Given the description of an element on the screen output the (x, y) to click on. 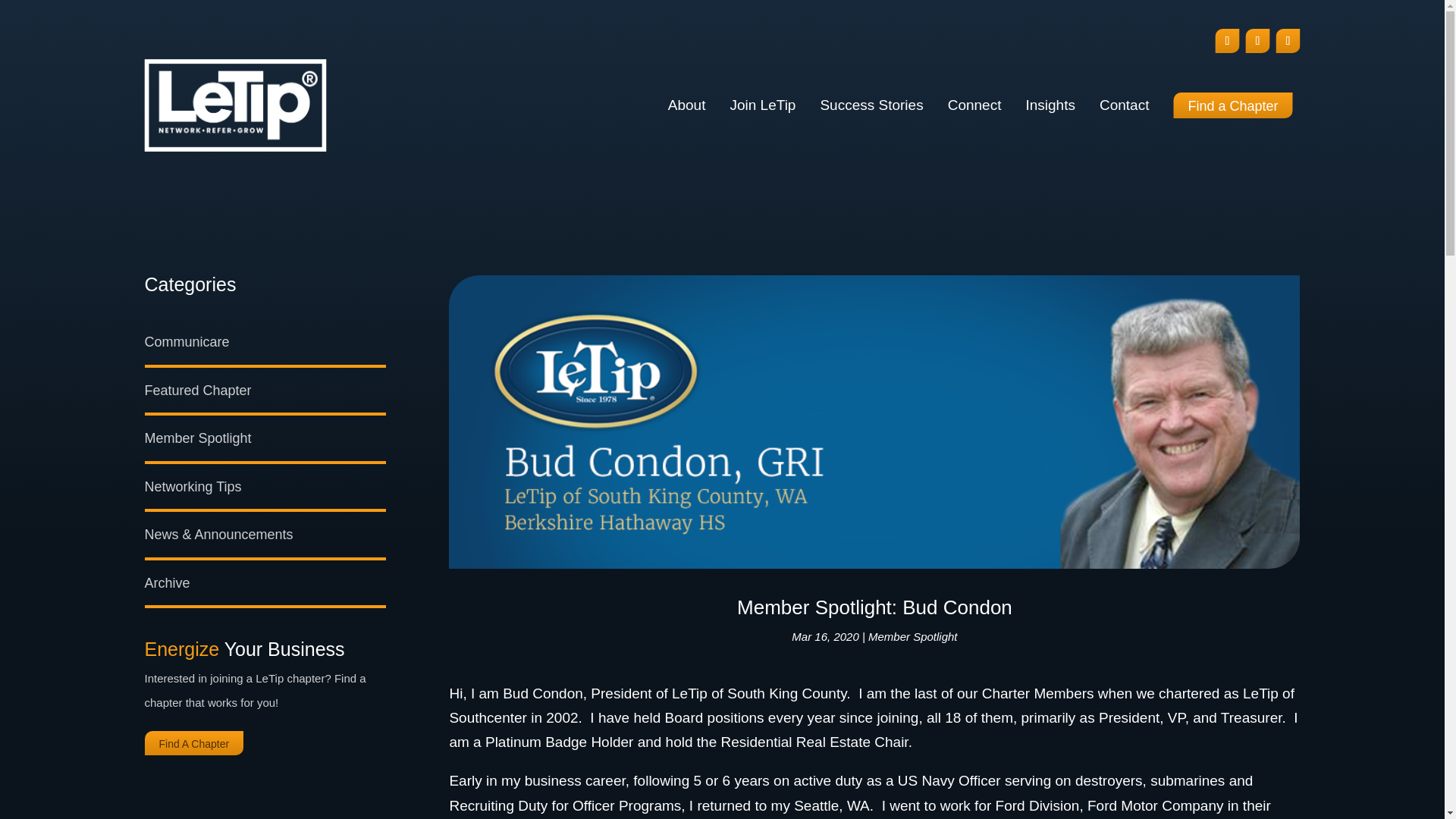
About (687, 104)
Follow on X (1287, 40)
Insights (1049, 104)
Follow on Instagram (1256, 40)
Join LeTip (761, 104)
Contact (1123, 104)
Connect (974, 104)
Success Stories (871, 104)
Follow on Facebook (1226, 40)
Find a Chapter (1232, 104)
